Given the description of an element on the screen output the (x, y) to click on. 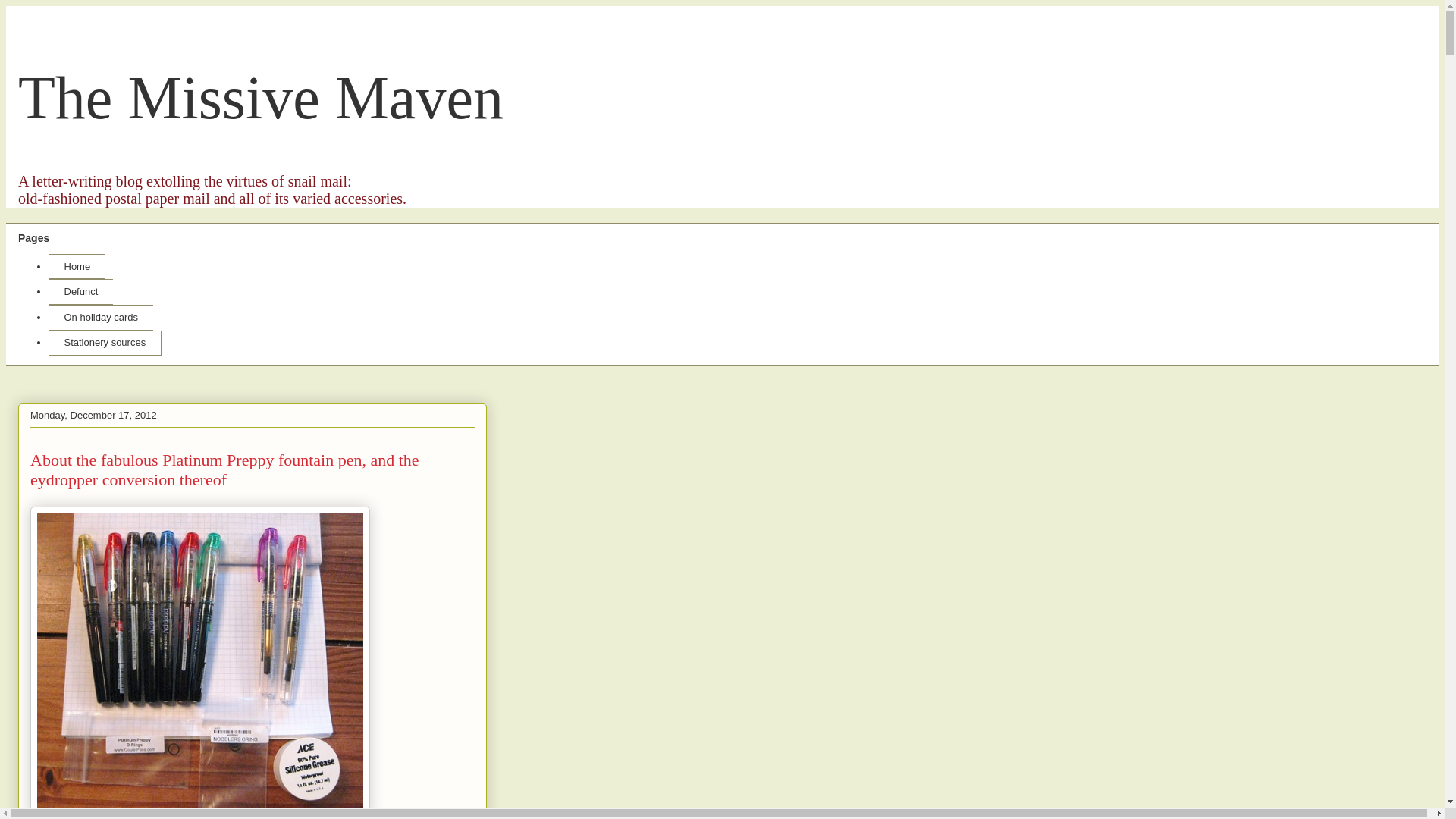
Stationery sources (104, 343)
Defunct (80, 291)
The Missive Maven (260, 97)
On holiday cards (100, 317)
Home (76, 266)
